Given the description of an element on the screen output the (x, y) to click on. 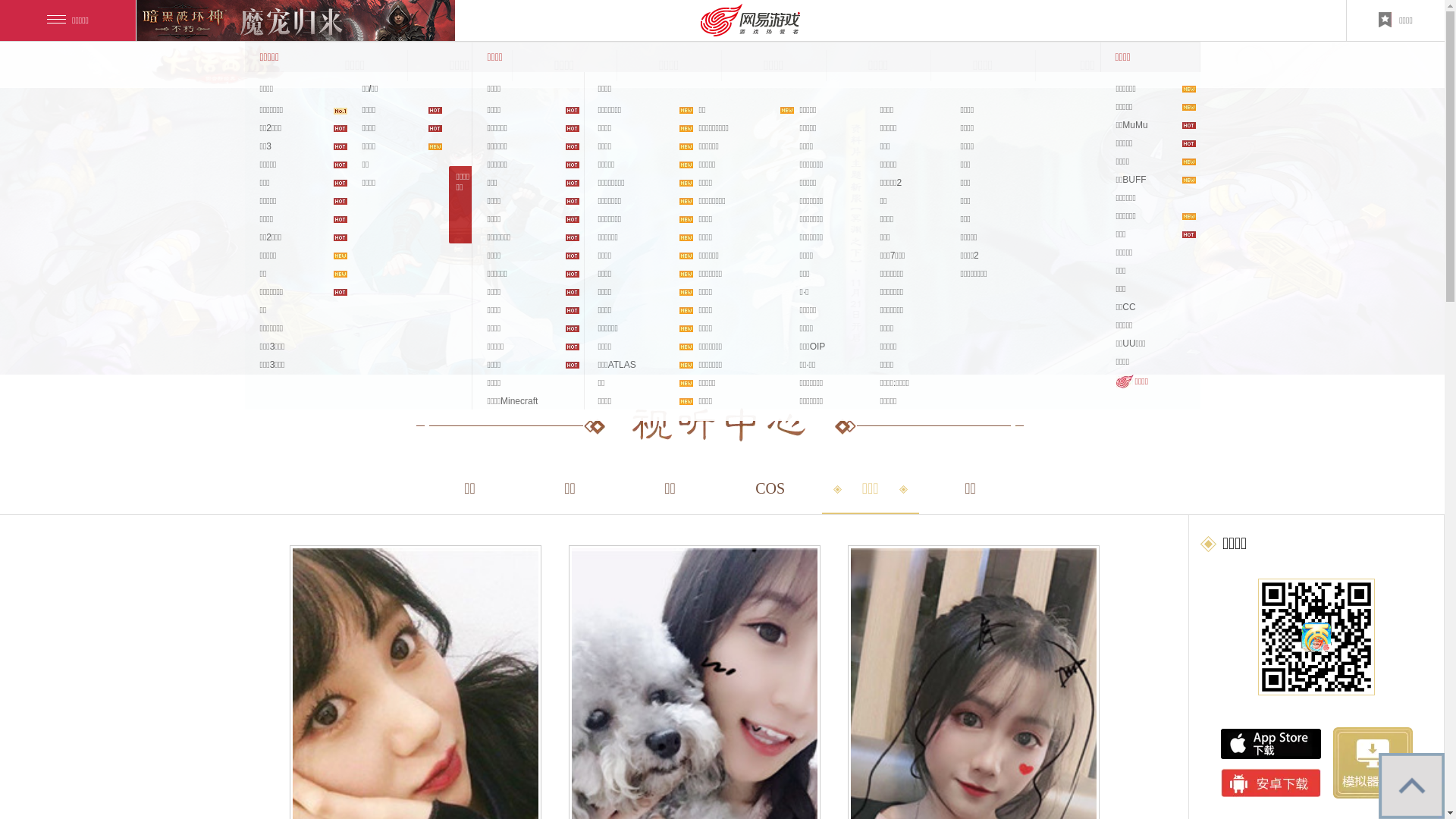
COS Element type: text (770, 487)
